Given the description of an element on the screen output the (x, y) to click on. 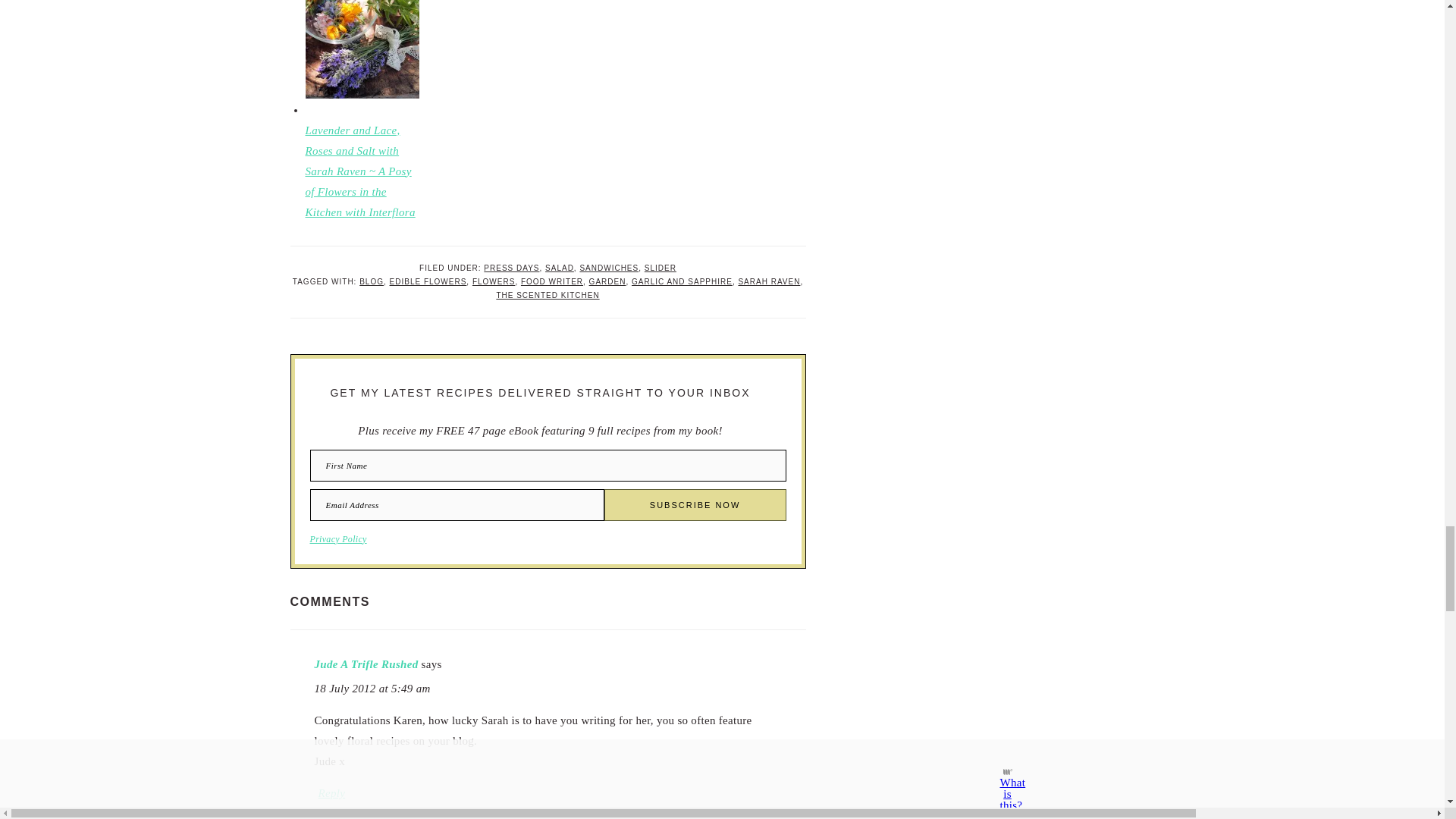
Subscribe Now (695, 504)
